Given the description of an element on the screen output the (x, y) to click on. 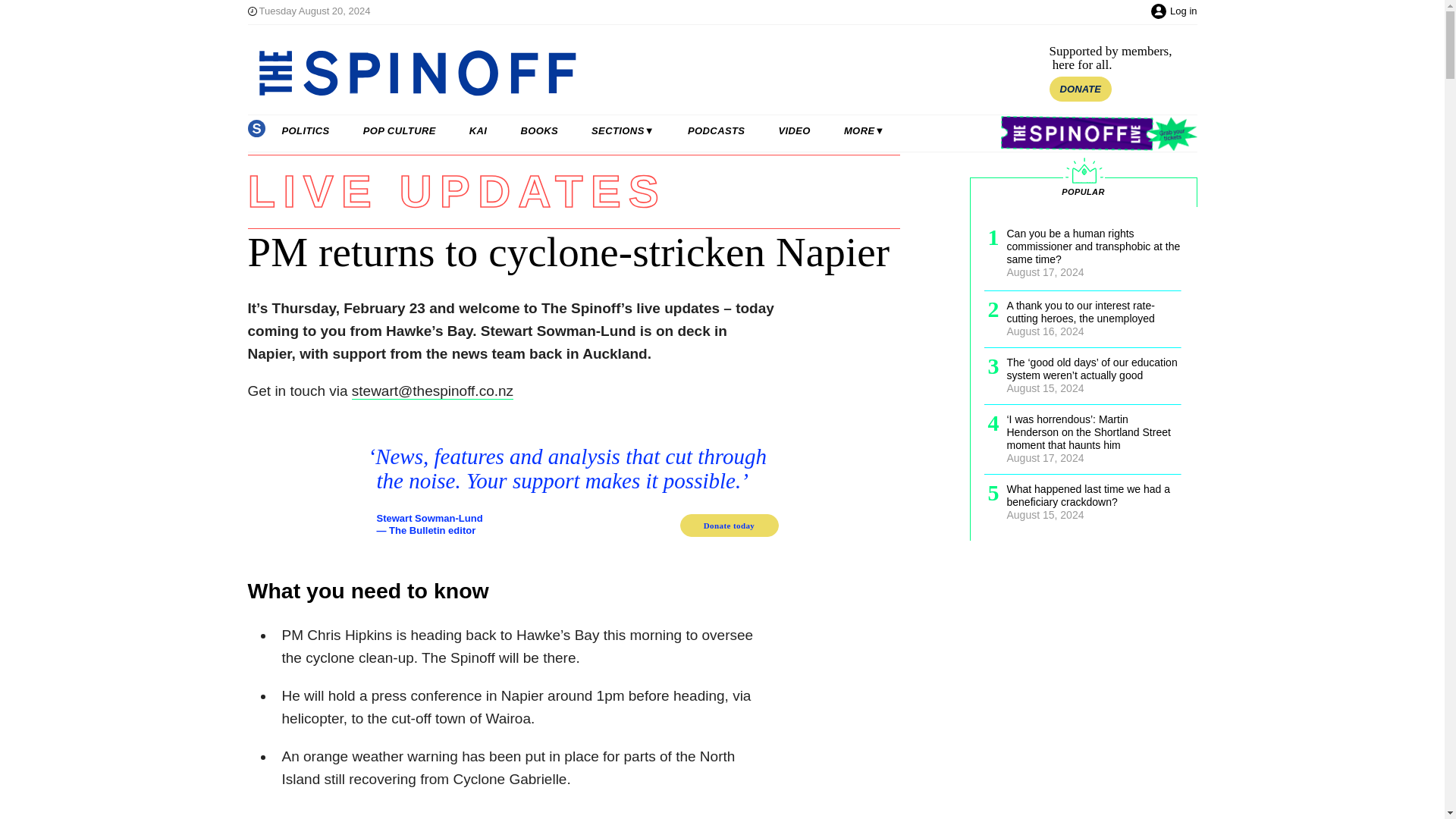
SECTIONS (623, 131)
PODCASTS (716, 131)
Log in (1183, 11)
DONATE (1080, 88)
VIDEO (794, 131)
BOOKS (539, 131)
The Spinoff (608, 72)
KAI (477, 131)
MORE (864, 131)
POLITICS (305, 131)
